Given the description of an element on the screen output the (x, y) to click on. 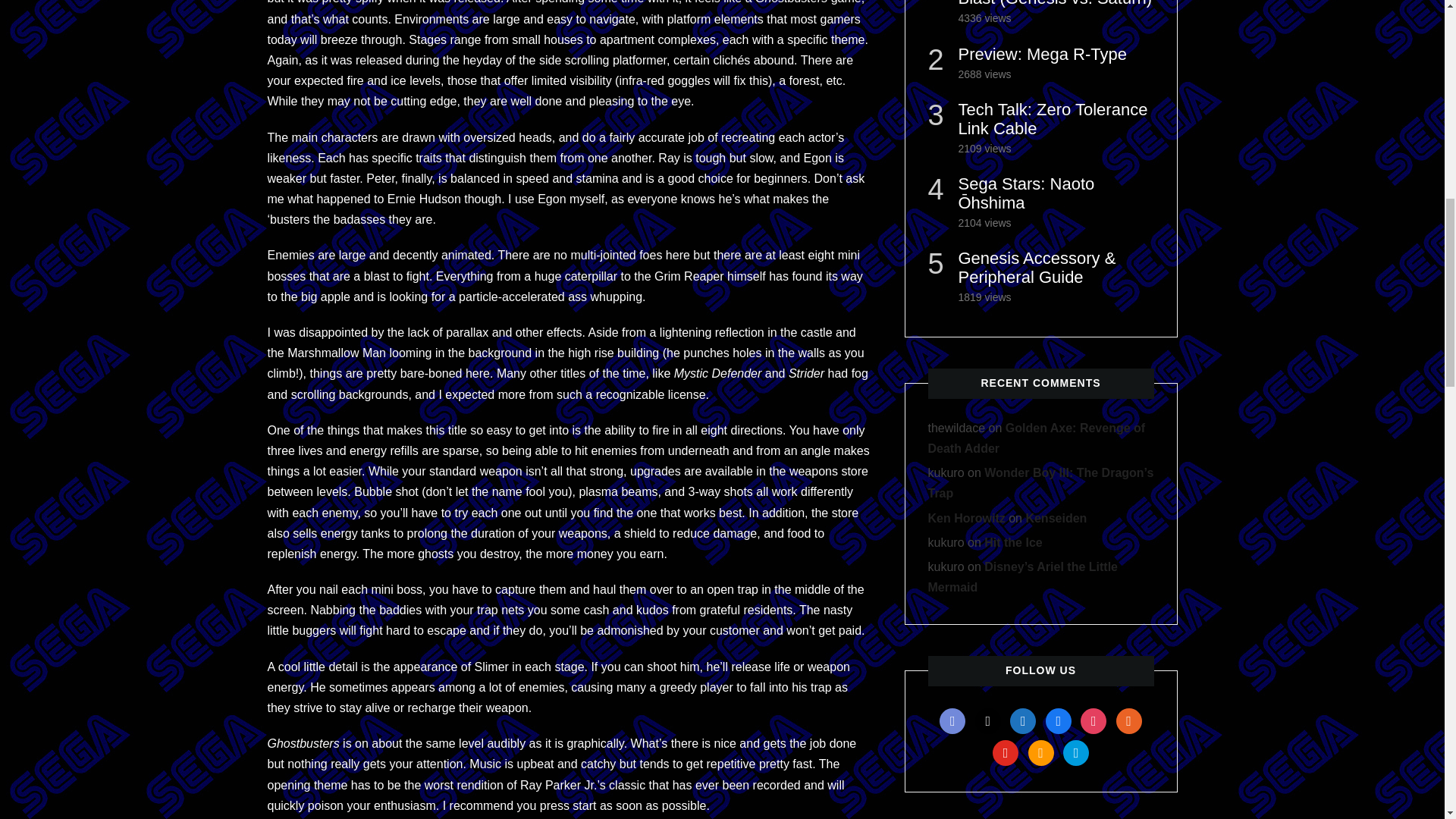
Permanent Link to Preview: Mega R-Type (1042, 54)
Permanent Link to Tech Talk: Zero Tolerance Link Cable (1053, 118)
Twitter (988, 719)
Facebook (1058, 719)
